Given the description of an element on the screen output the (x, y) to click on. 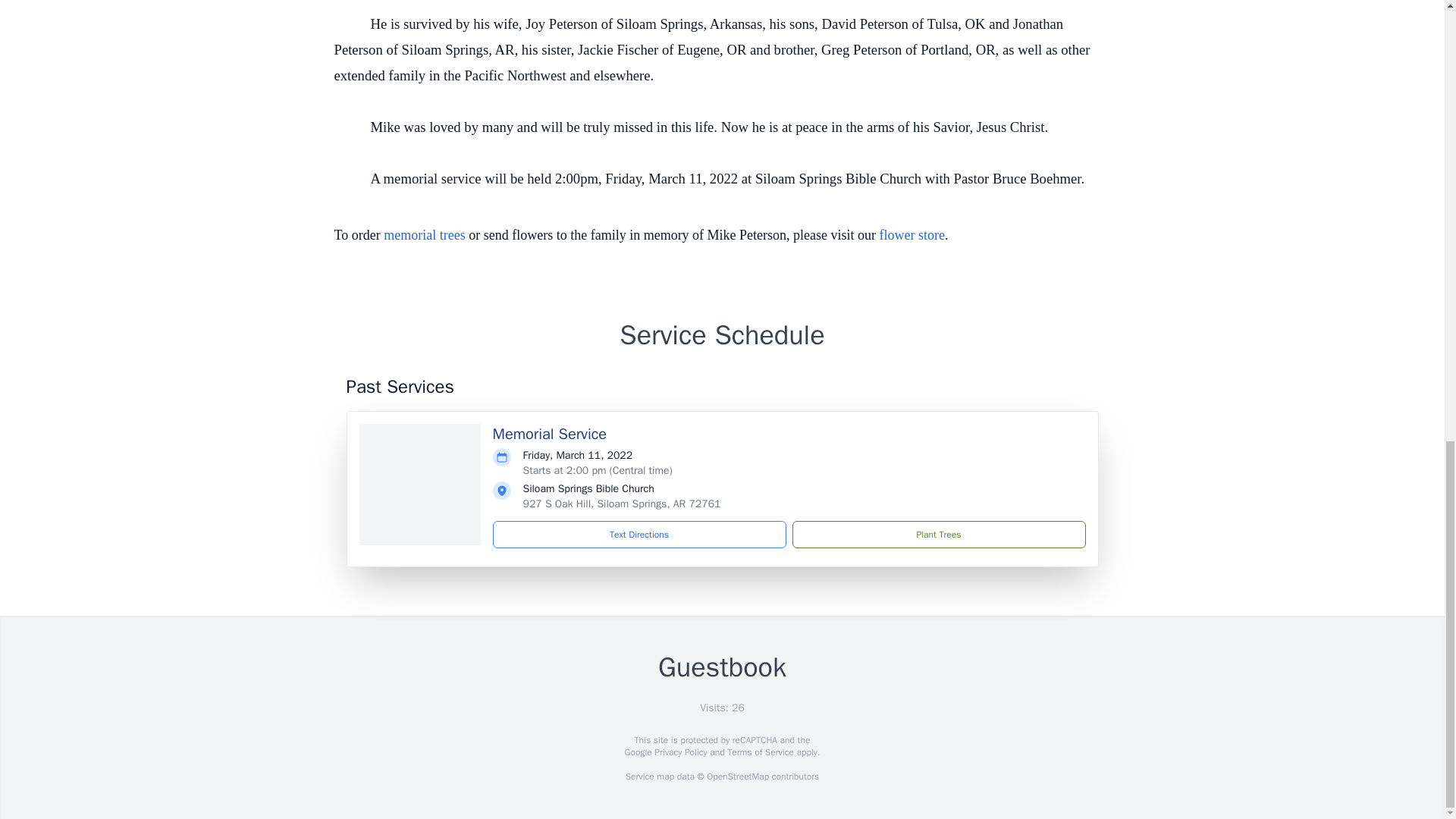
Plant Trees (938, 533)
flower store (911, 234)
Privacy Policy (679, 752)
927 S Oak Hill, Siloam Springs, AR 72761 (621, 503)
Terms of Service (759, 752)
OpenStreetMap (737, 776)
memorial trees (424, 234)
Text Directions (639, 533)
